Given the description of an element on the screen output the (x, y) to click on. 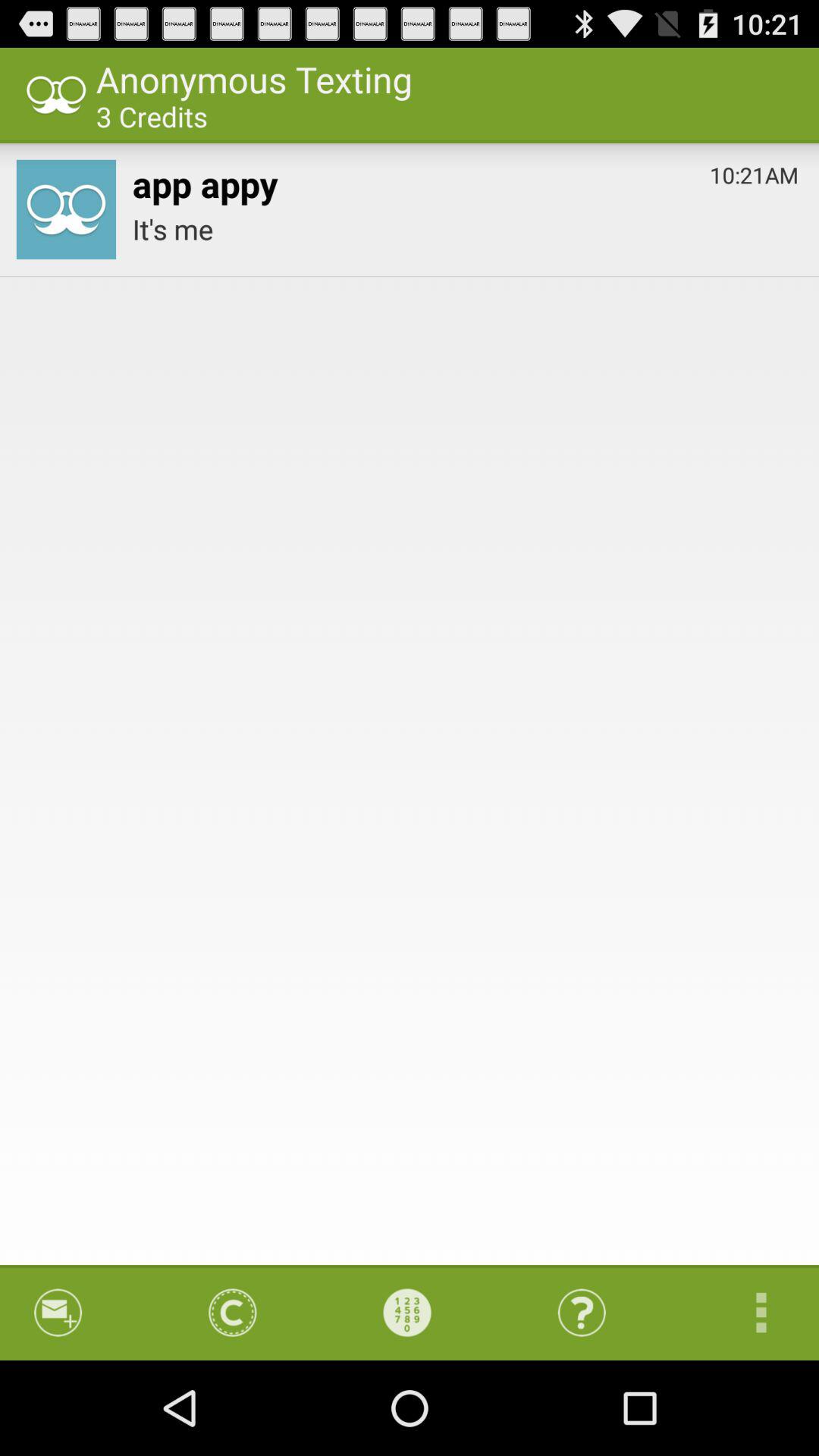
choose the item at the top right corner (753, 171)
